Given the description of an element on the screen output the (x, y) to click on. 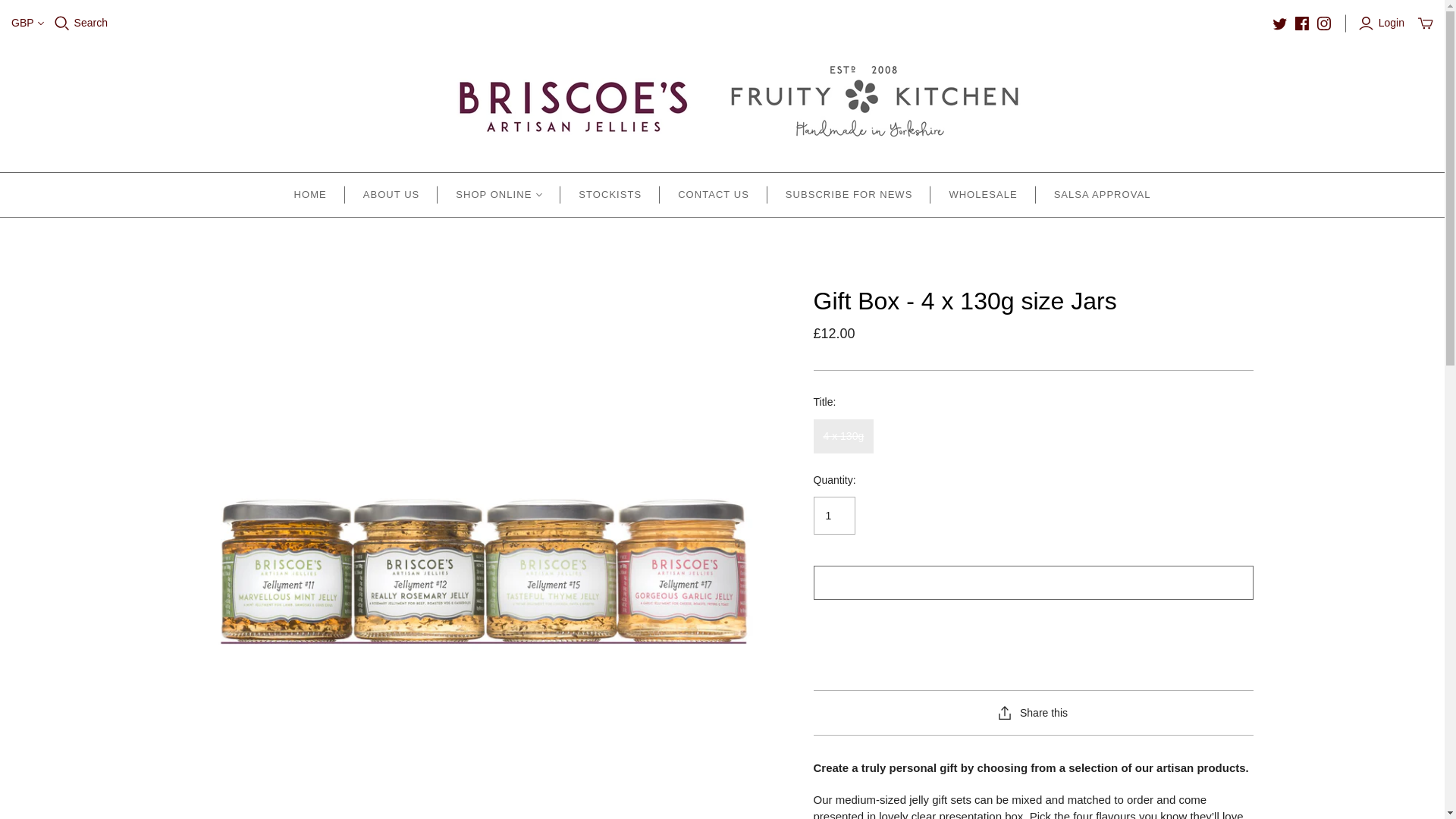
Login (1383, 22)
STOCKISTS (609, 194)
ABOUT US (391, 194)
SHOP ONLINE (499, 194)
CONTACT US (713, 194)
HOME (310, 194)
SALSA APPROVAL (1102, 194)
1 (833, 515)
SUBSCRIBE FOR NEWS (849, 194)
WHOLESALE (982, 194)
